Given the description of an element on the screen output the (x, y) to click on. 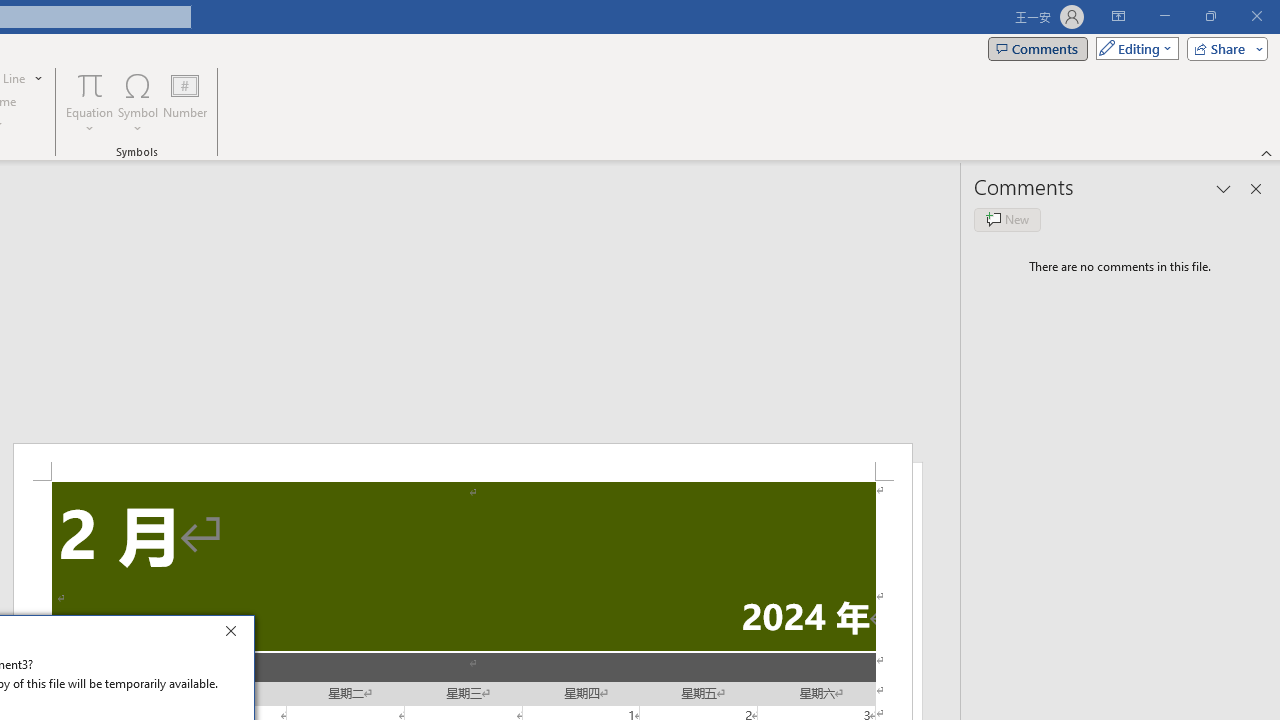
Equation (90, 102)
